Given the description of an element on the screen output the (x, y) to click on. 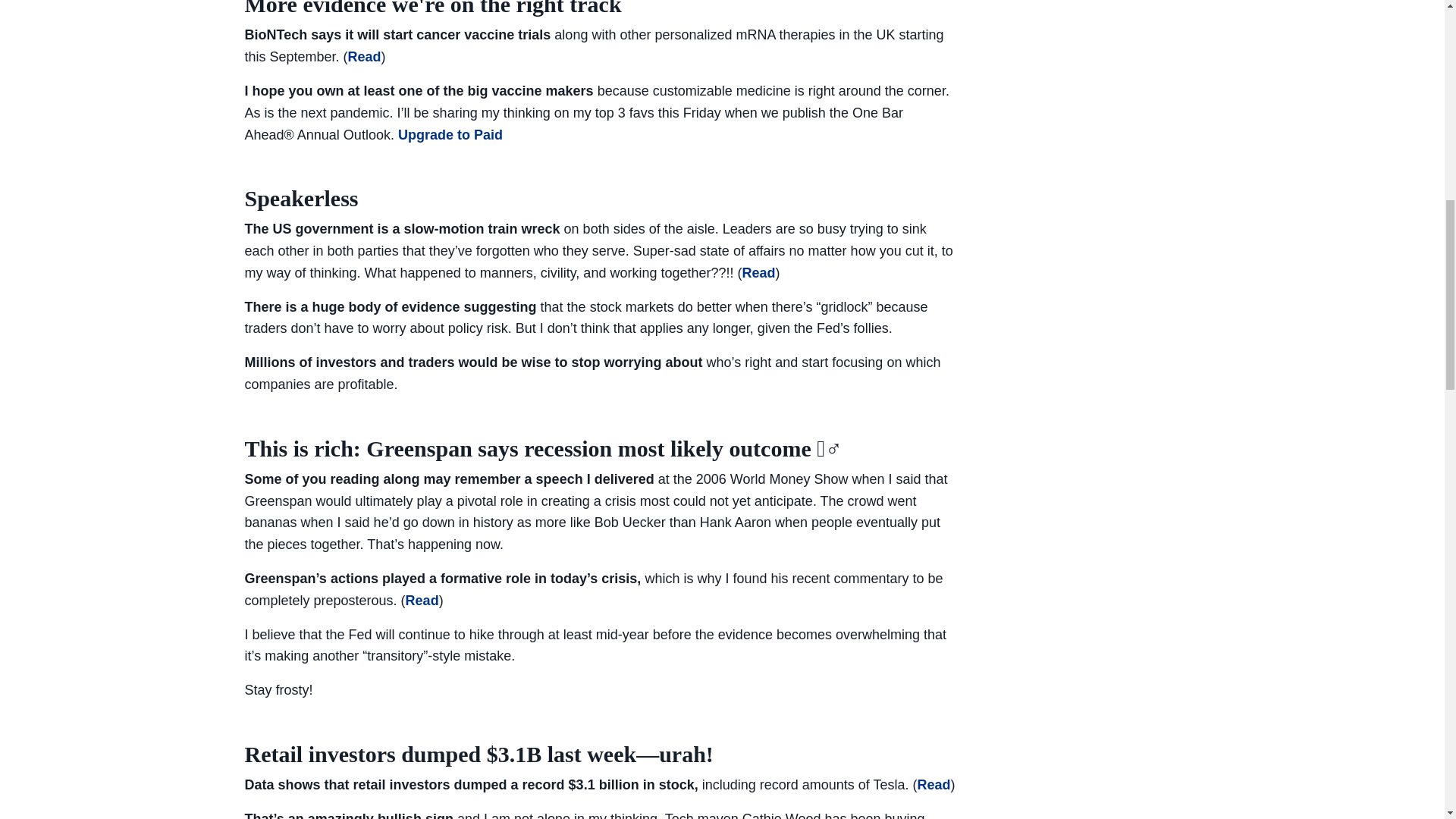
Read (933, 784)
Read (422, 600)
Read (364, 56)
Read (757, 272)
Upgrade to Paid (449, 134)
